Given the description of an element on the screen output the (x, y) to click on. 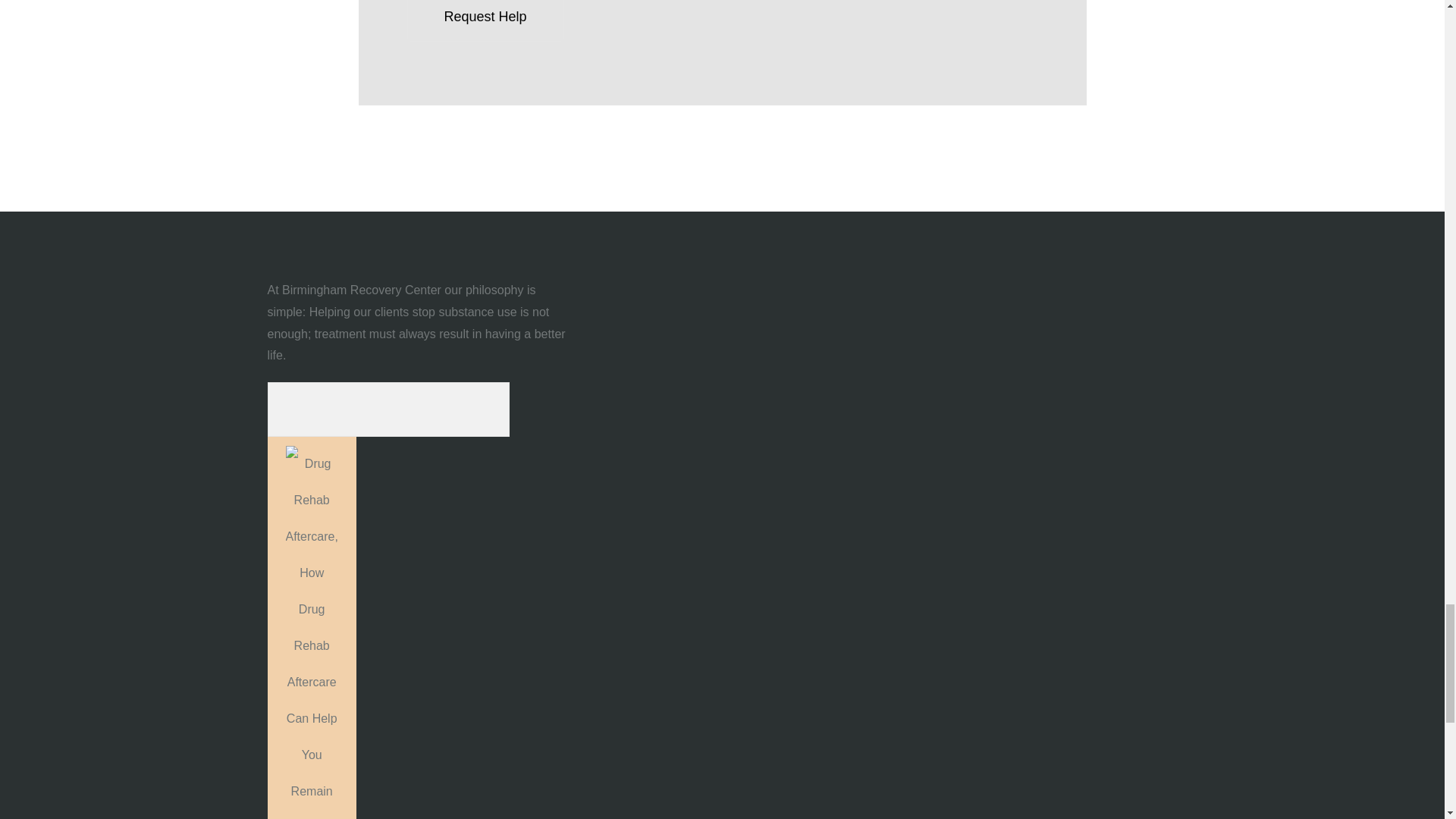
Request Help (484, 20)
